Given the description of an element on the screen output the (x, y) to click on. 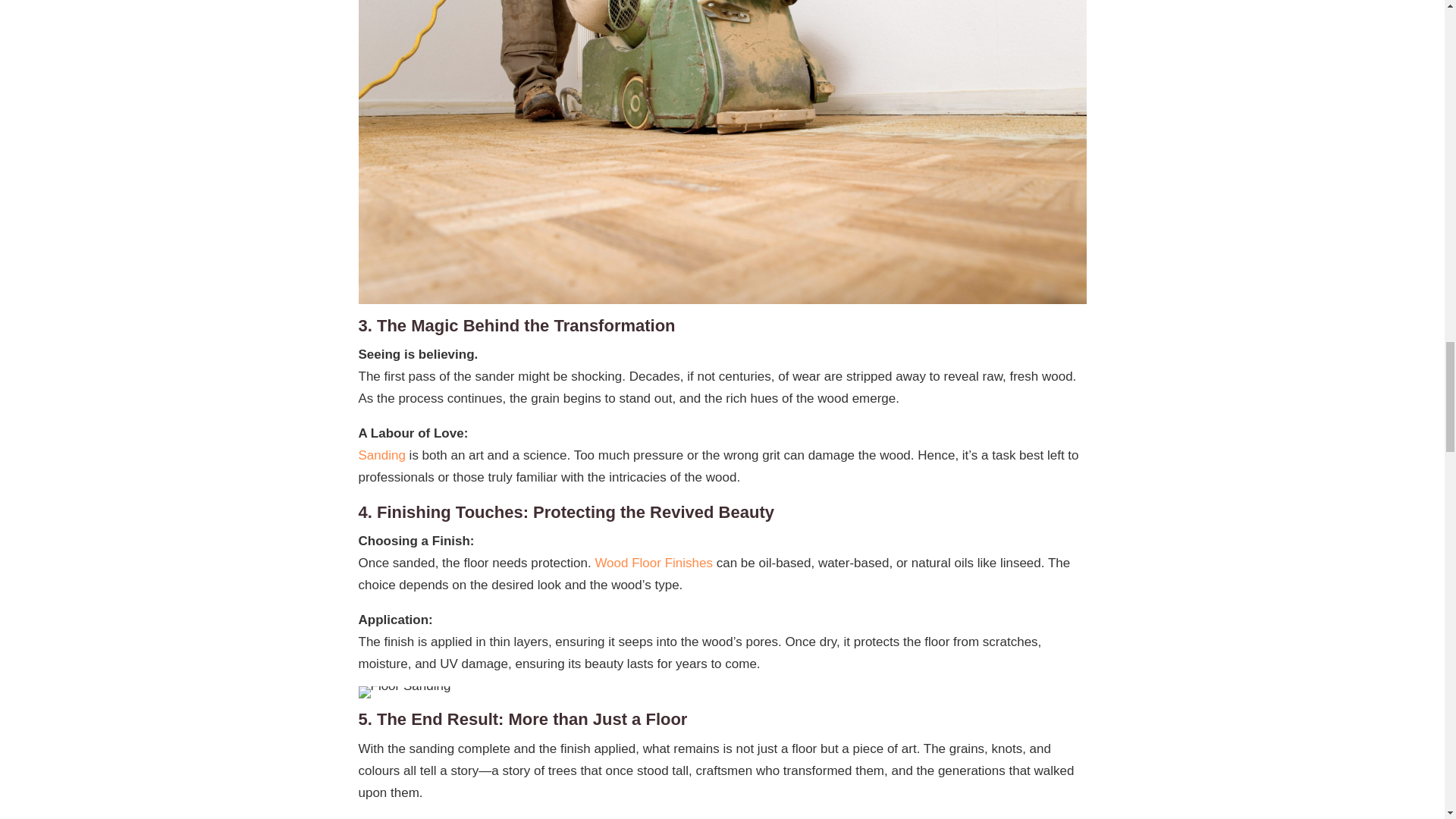
osmo-e1666456037899 (403, 692)
